Given the description of an element on the screen output the (x, y) to click on. 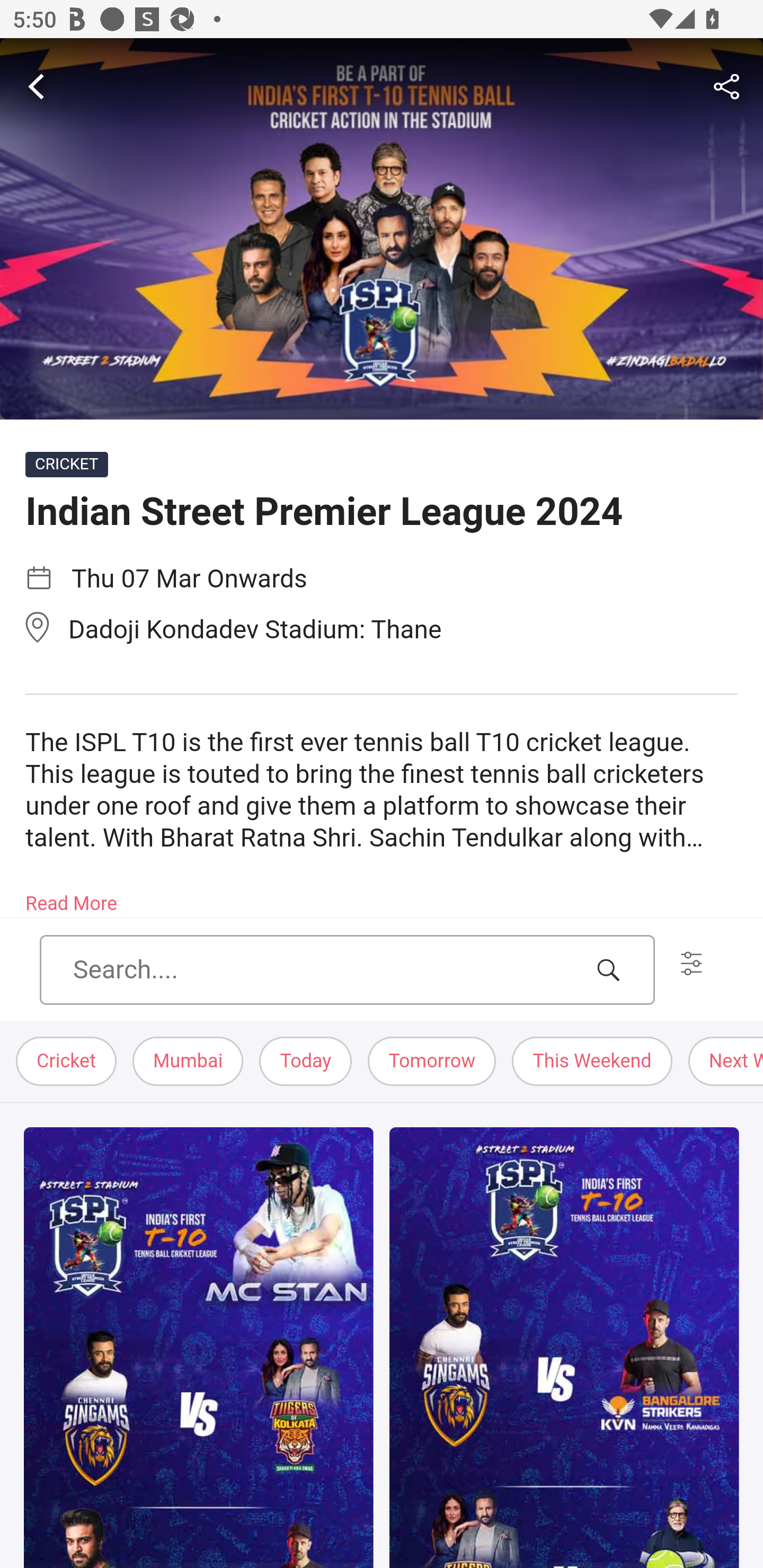
Indian Street Premier League 2024 (381, 228)
Read More (71, 897)
Cricket (66, 1061)
Mumbai (187, 1061)
Today (305, 1061)
Tomorrow (432, 1061)
This Weekend (591, 1061)
